Given the description of an element on the screen output the (x, y) to click on. 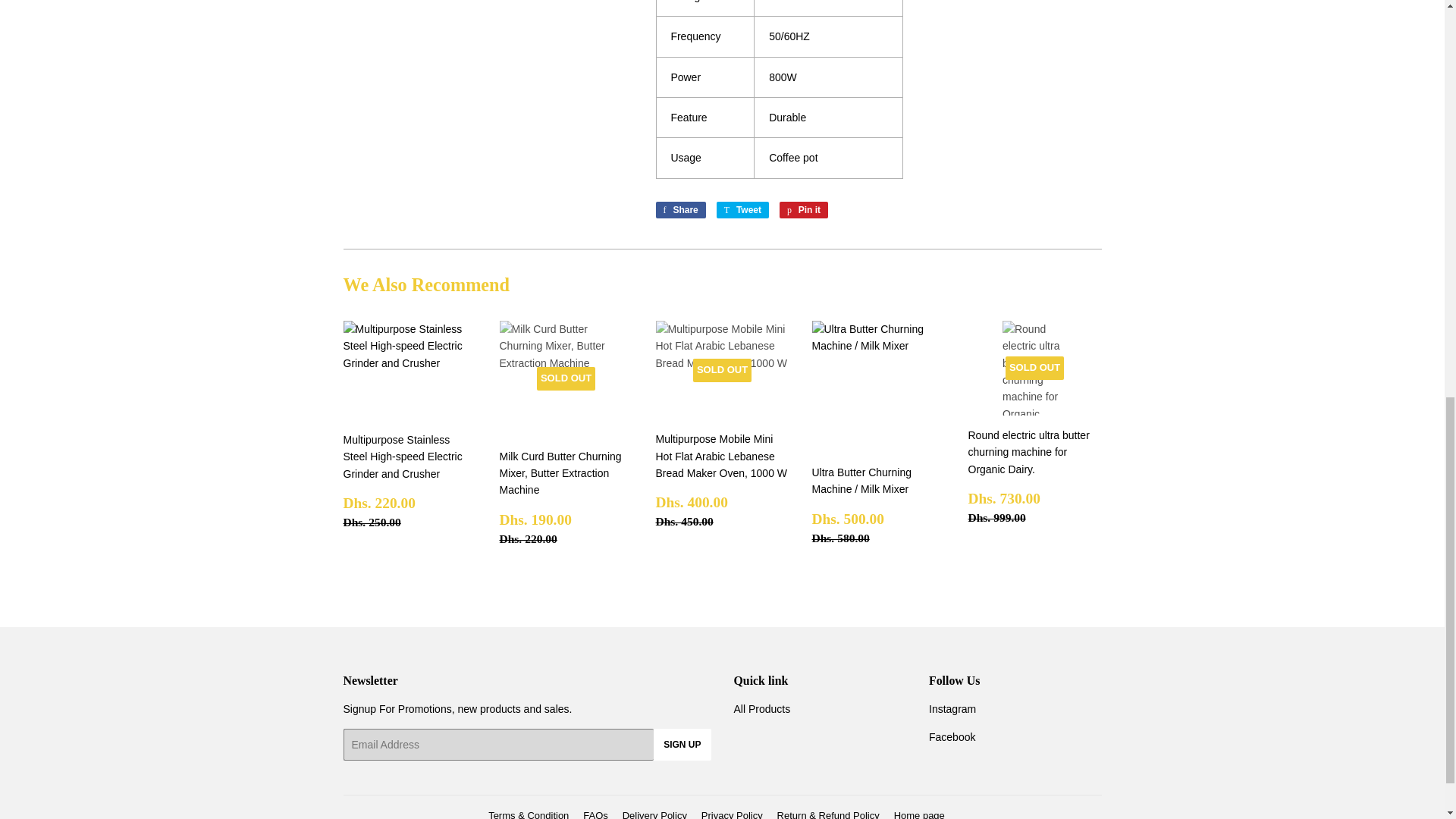
Pin on Pinterest (803, 209)
Tweet on Twitter (803, 209)
Share on Facebook (742, 209)
